Given the description of an element on the screen output the (x, y) to click on. 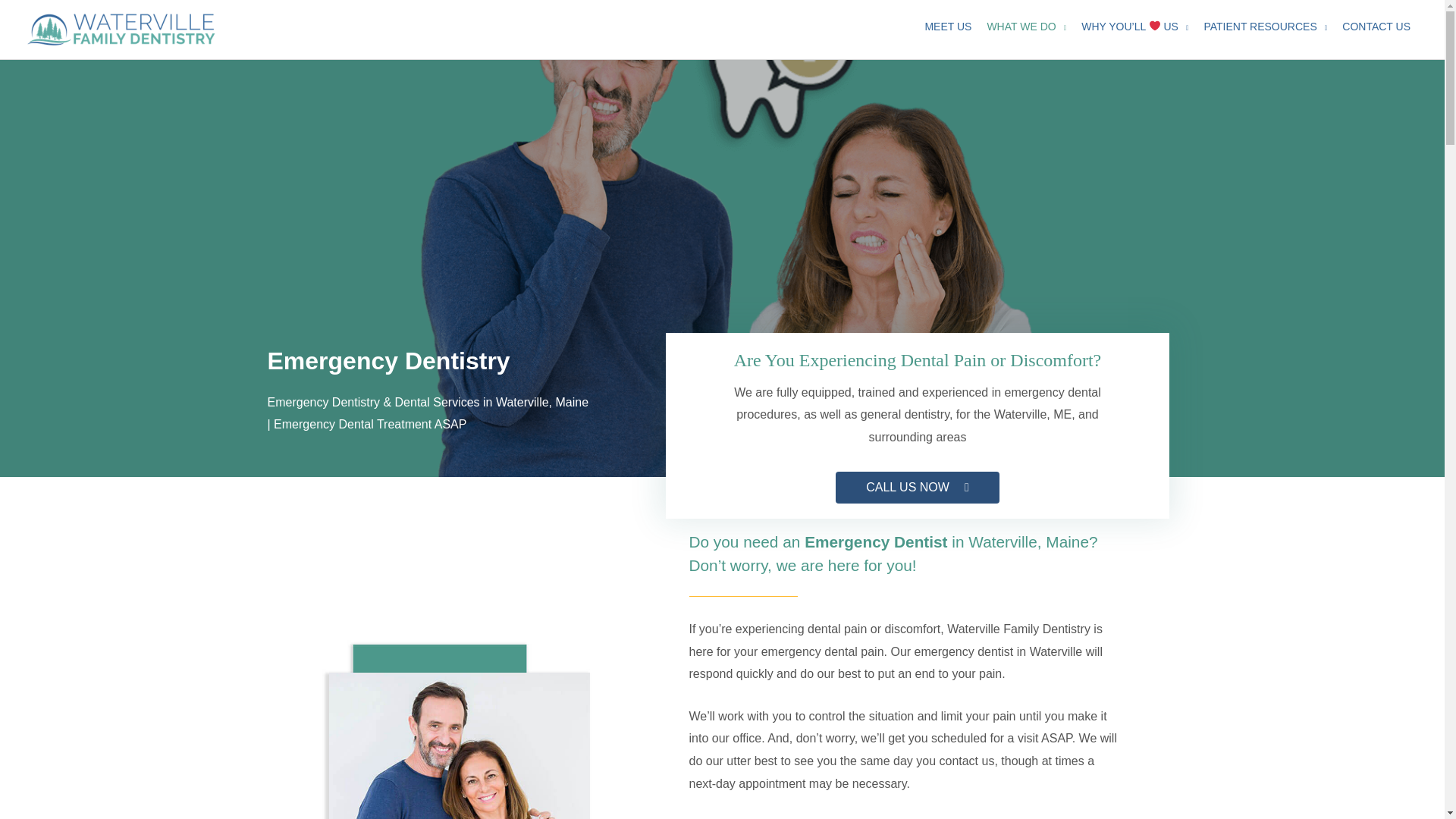
WHAT WE DO (1026, 25)
MEET US (947, 25)
